Given the description of an element on the screen output the (x, y) to click on. 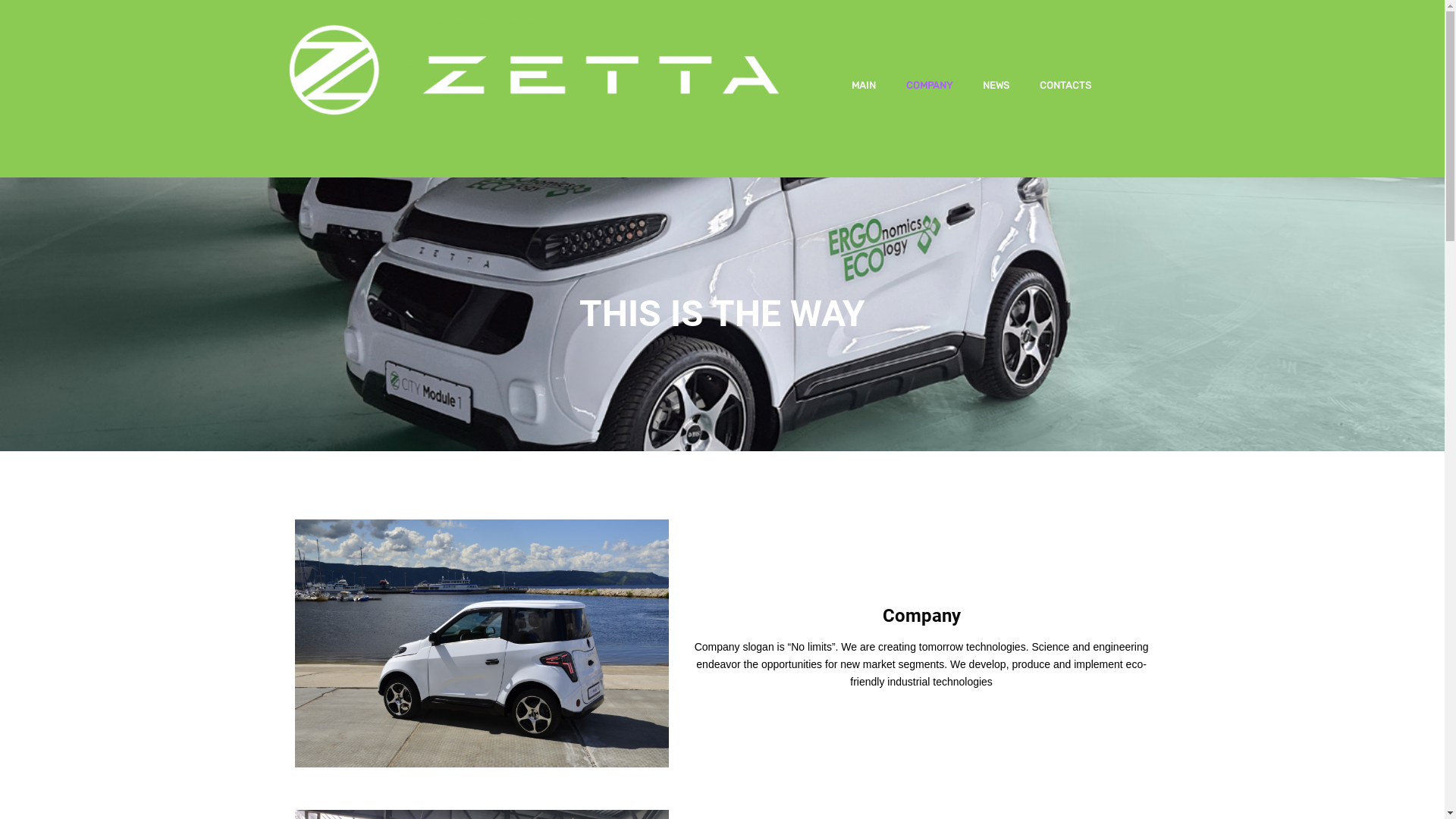
CONTACTS Element type: text (1065, 85)
ZETTA Element type: hover (534, 86)
MAIN Element type: text (863, 85)
COMPANY Element type: text (929, 85)
NEWS Element type: text (995, 85)
